Given the description of an element on the screen output the (x, y) to click on. 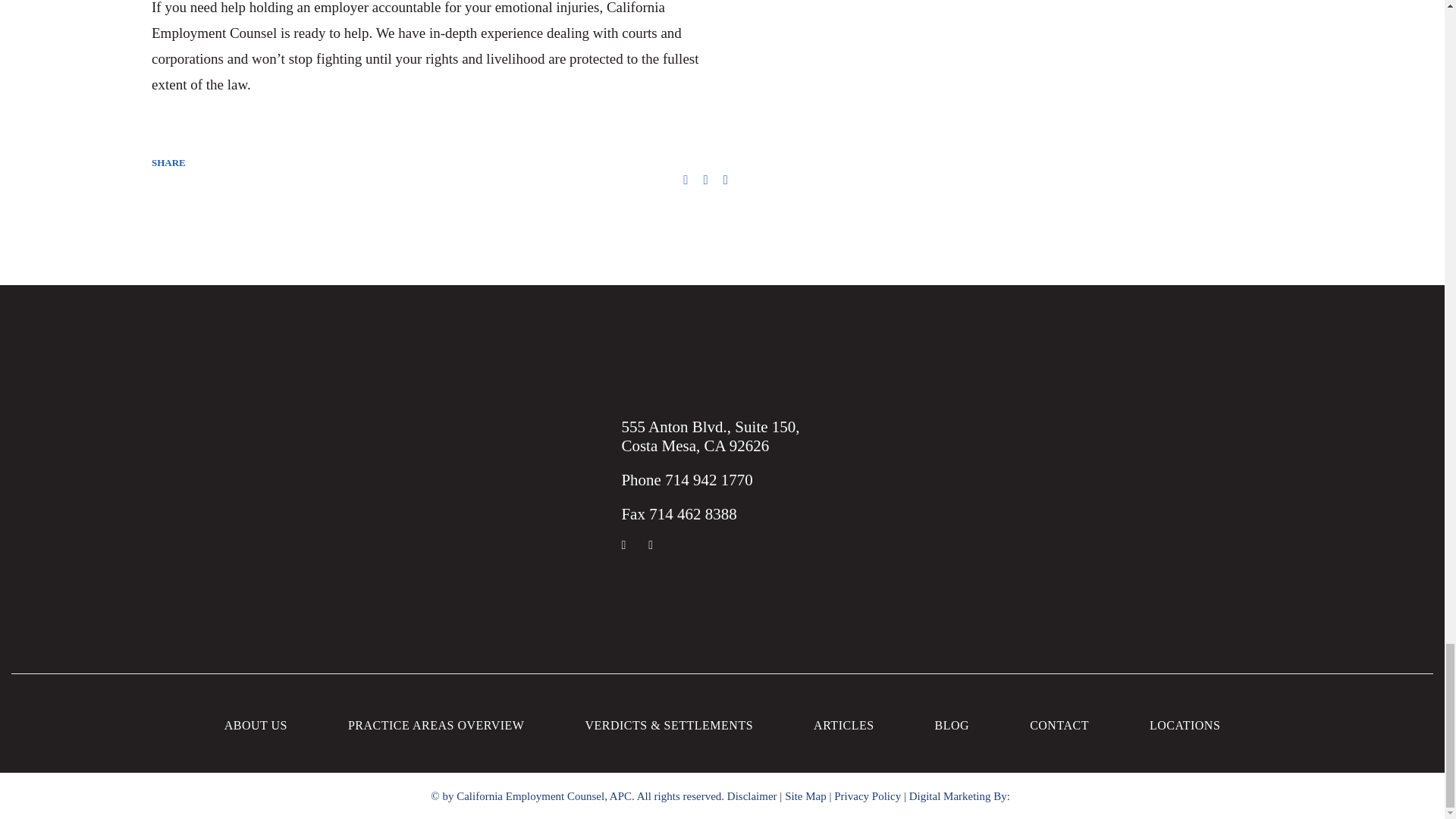
ready to help (331, 32)
